Given the description of an element on the screen output the (x, y) to click on. 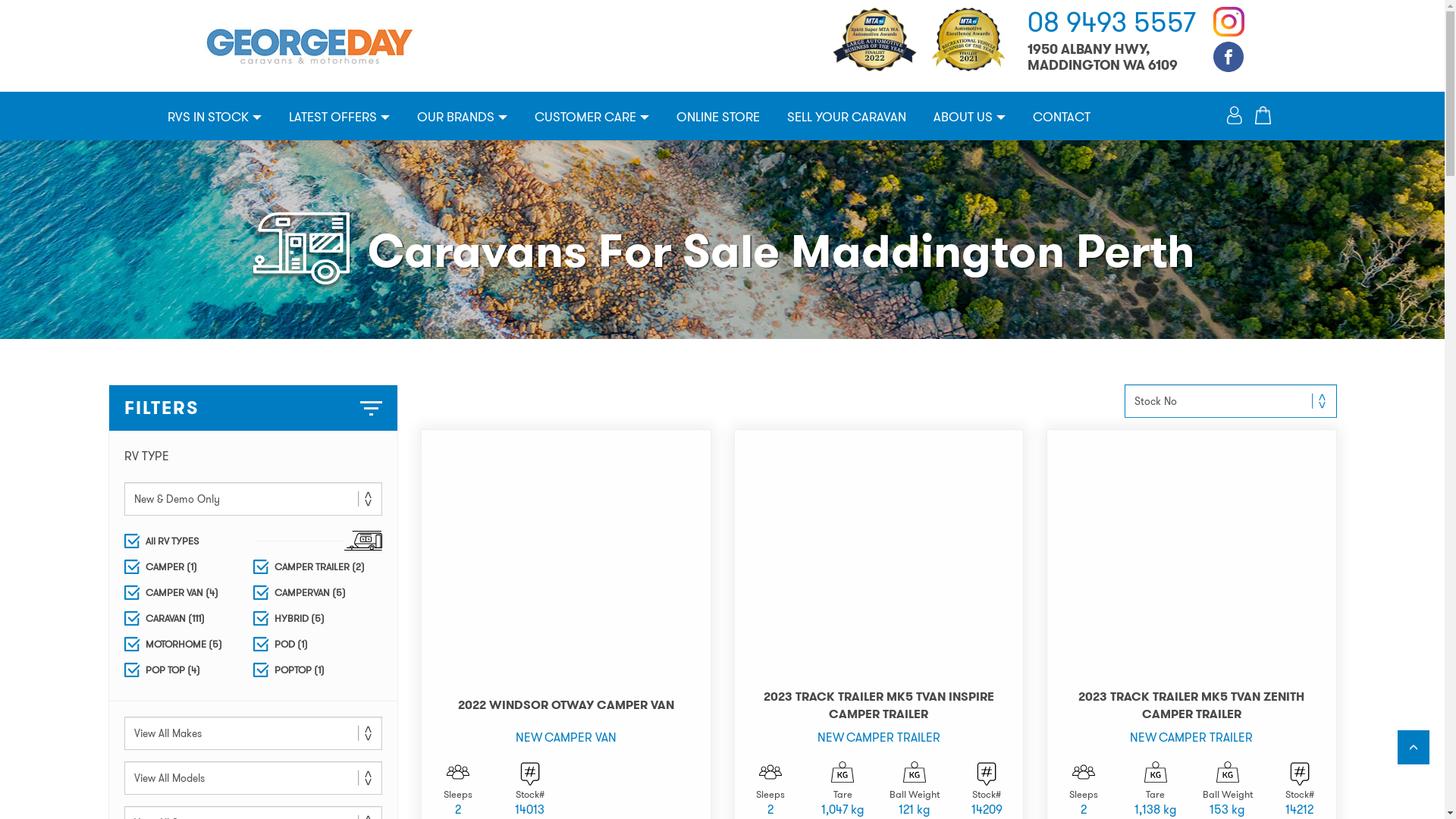
RVS IN STOCK Element type: text (213, 116)
SELL YOUR CARAVAN Element type: text (846, 116)
LATEST OFFERS Element type: text (338, 116)
2023 TRACK TRAILER MK5 TVAN ZENITH CAMPER TRAILER Element type: text (1191, 705)
1950 ALBANY HWY,
MADDINGTON WA 6109 Element type: text (1101, 57)
CONTACT Element type: text (1061, 116)
ABOUT US Element type: text (968, 116)
OUR BRANDS Element type: text (461, 116)
ONLINE STORE Element type: text (717, 116)
2022 WINDSOR OTWAY CAMPER VAN Element type: text (565, 705)
CUSTOMER CARE Element type: text (591, 116)
2023 TRACK TRAILER MK5 TVAN INSPIRE CAMPER TRAILER Element type: text (878, 705)
08 9493 5557 Element type: text (1110, 22)
